Given the description of an element on the screen output the (x, y) to click on. 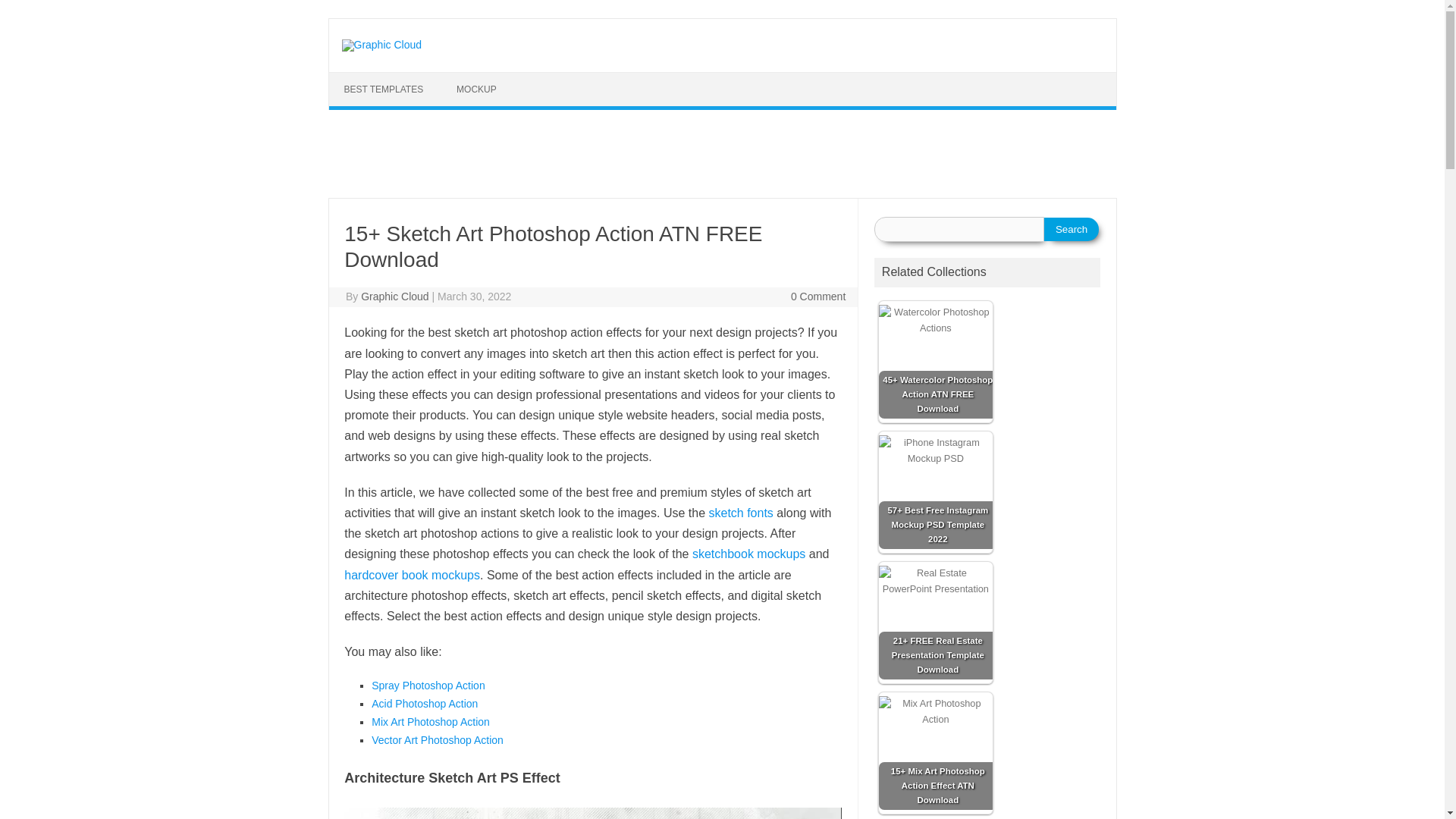
MOCKUP (476, 89)
Acid Photoshop Action (424, 703)
Graphic Cloud (395, 296)
Spray Photoshop Action (427, 685)
sketch fonts (740, 512)
Mix Art Photoshop Action (430, 721)
Graphic Cloud (381, 44)
Skip to content (363, 77)
Posts by Graphic Cloud (395, 296)
Skip to content (363, 77)
